Given the description of an element on the screen output the (x, y) to click on. 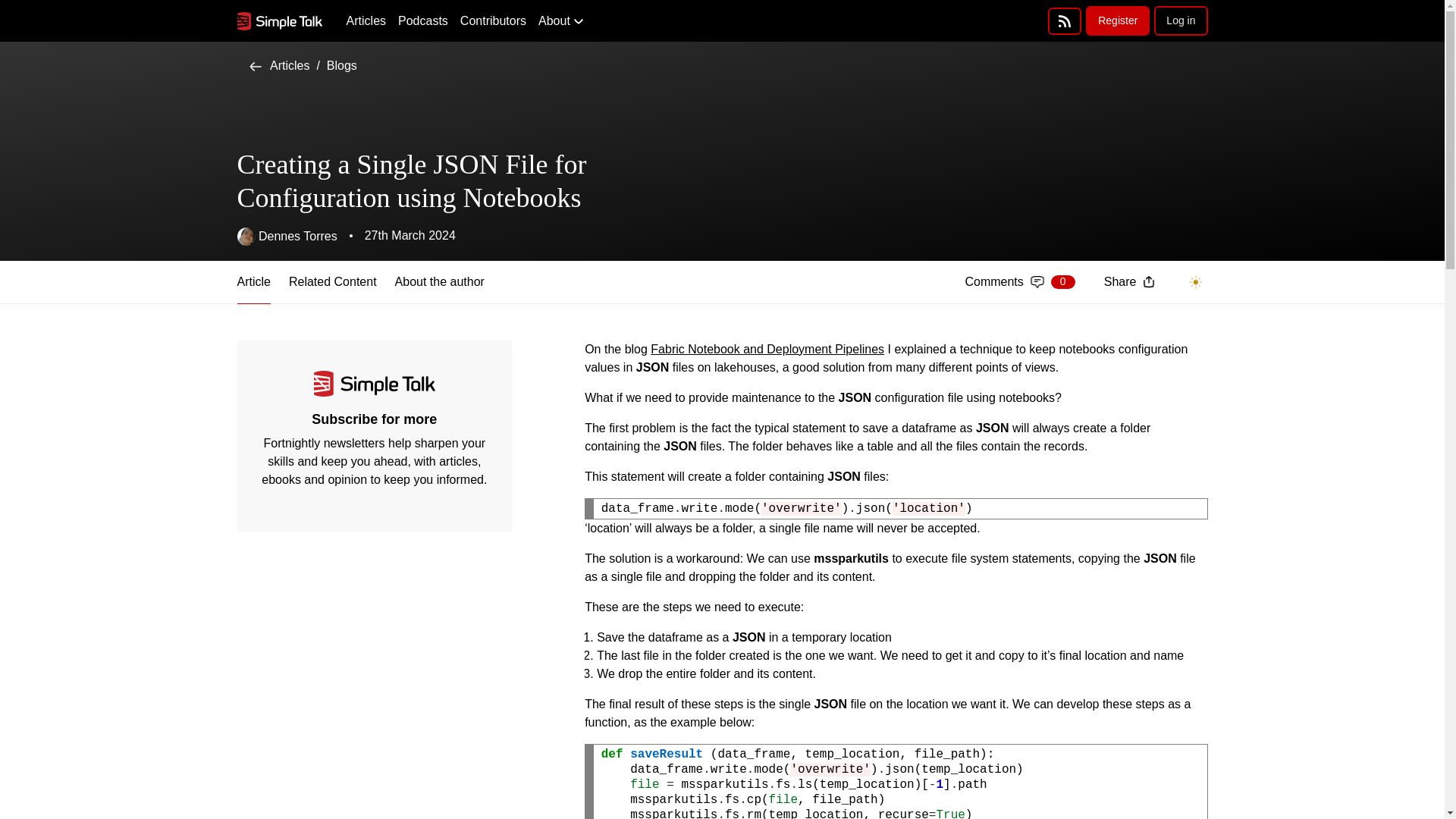
Articles (278, 65)
Register (1118, 20)
Share (1128, 281)
About the author (1018, 281)
Blogs (439, 282)
Log in (341, 65)
Related Content (1180, 20)
Podcasts (332, 282)
About (422, 21)
